Given the description of an element on the screen output the (x, y) to click on. 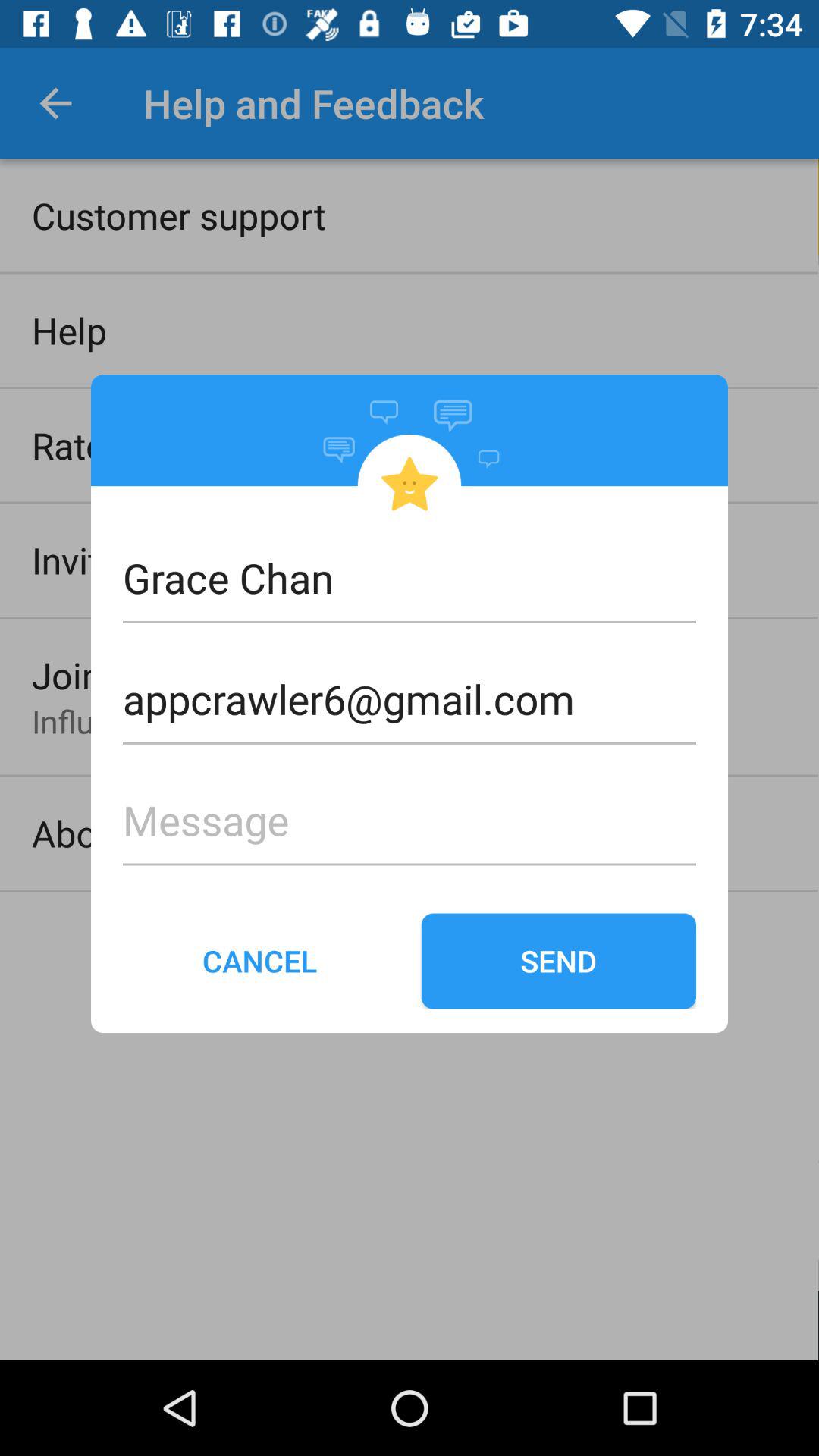
turn on the item on the left (259, 960)
